Given the description of an element on the screen output the (x, y) to click on. 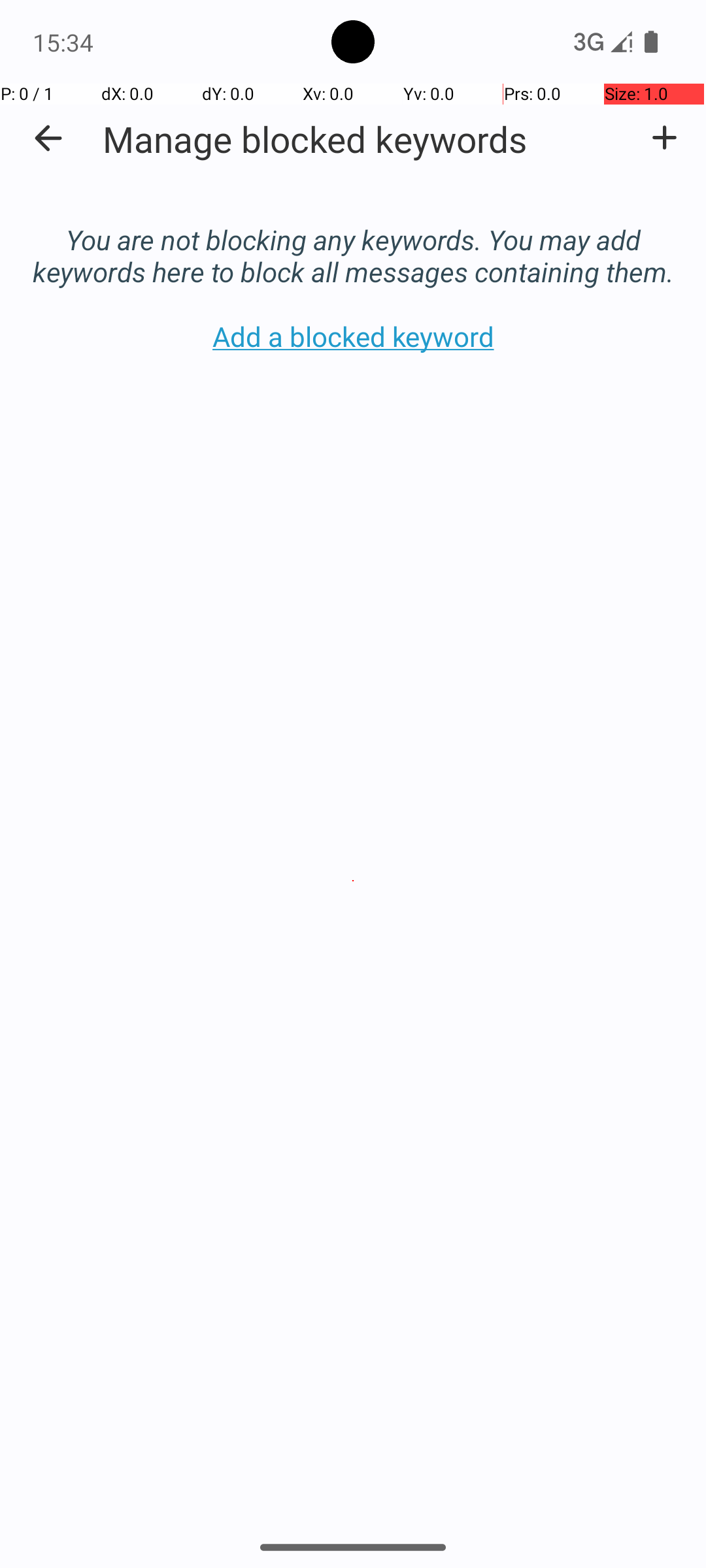
Manage blocked keywords Element type: android.widget.TextView (314, 138)
Add a blocked keyword Element type: android.widget.Button (664, 137)
You are not blocking any keywords. You may add keywords here to block all messages containing them. Element type: android.widget.TextView (353, 241)
